Given the description of an element on the screen output the (x, y) to click on. 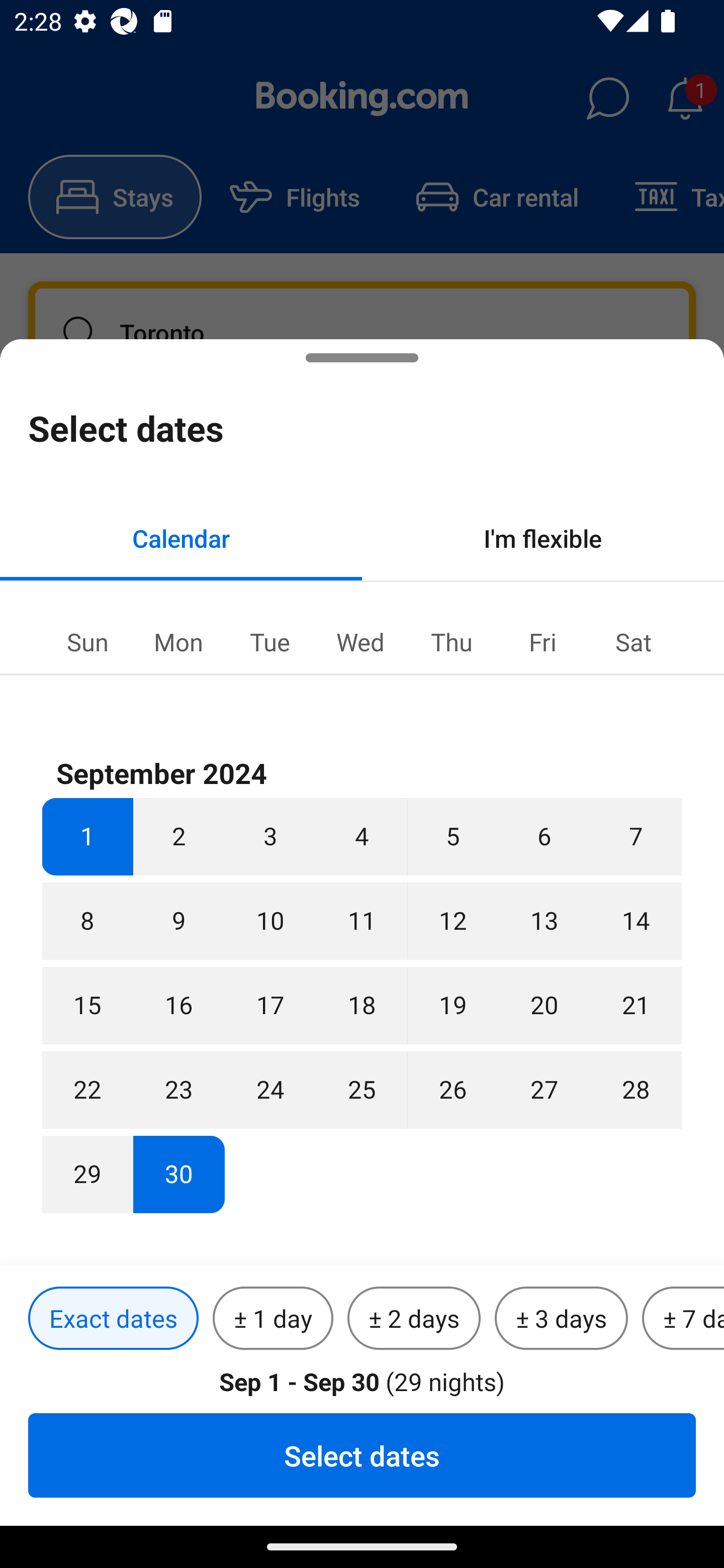
I'm flexible (543, 537)
Exact dates (113, 1318)
± 1 day (272, 1318)
± 2 days (413, 1318)
± 3 days (560, 1318)
± 7 days (683, 1318)
Select dates (361, 1454)
